Given the description of an element on the screen output the (x, y) to click on. 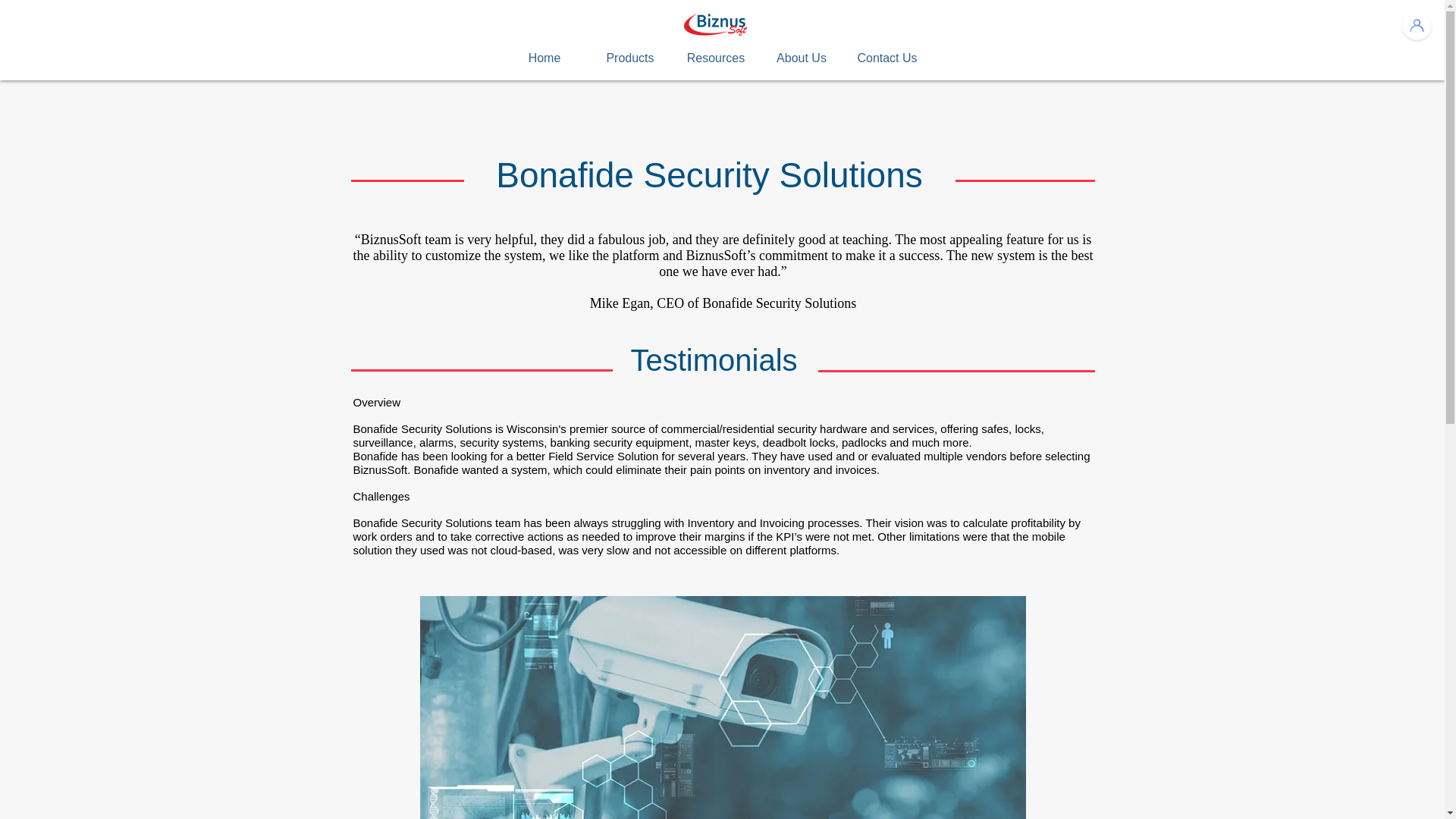
Contact Us (887, 58)
Home (545, 58)
Products (629, 58)
Customer Portal (1415, 25)
About Us (801, 58)
Resources (715, 58)
